Given the description of an element on the screen output the (x, y) to click on. 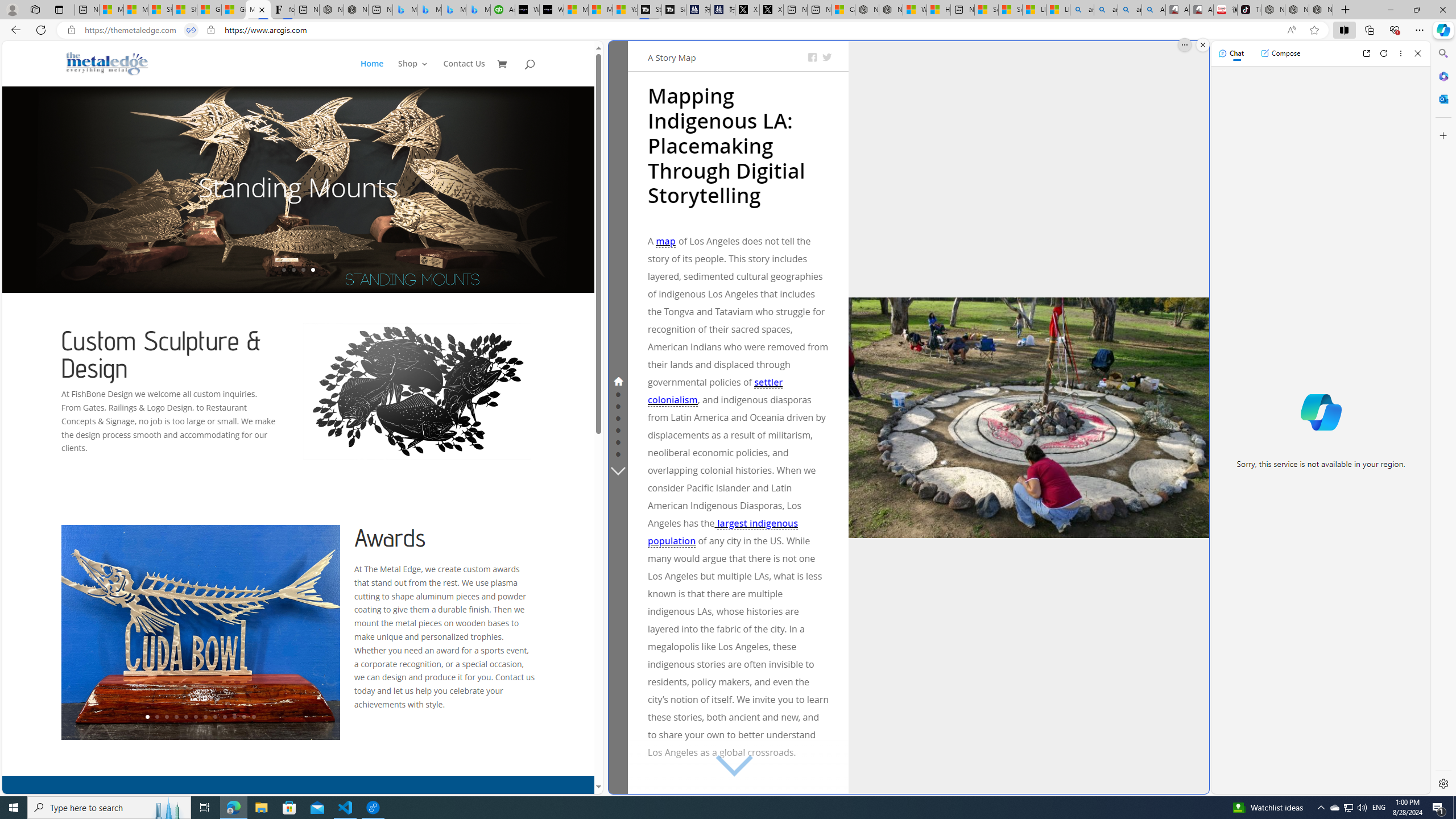
Collections (1369, 29)
Close split screen. (1202, 45)
Refresh (1383, 53)
Contact Us (463, 72)
TikTok (1248, 9)
Nordace - Best Sellers (1273, 9)
Tab actions menu (58, 9)
Microsoft Start (600, 9)
settler colonialism (715, 391)
Contact Us (463, 72)
More options (1401, 53)
largest indigenous population (722, 531)
Go to section 2: Mapping Indigenous LA  (617, 393)
3 (166, 716)
